Given the description of an element on the screen output the (x, y) to click on. 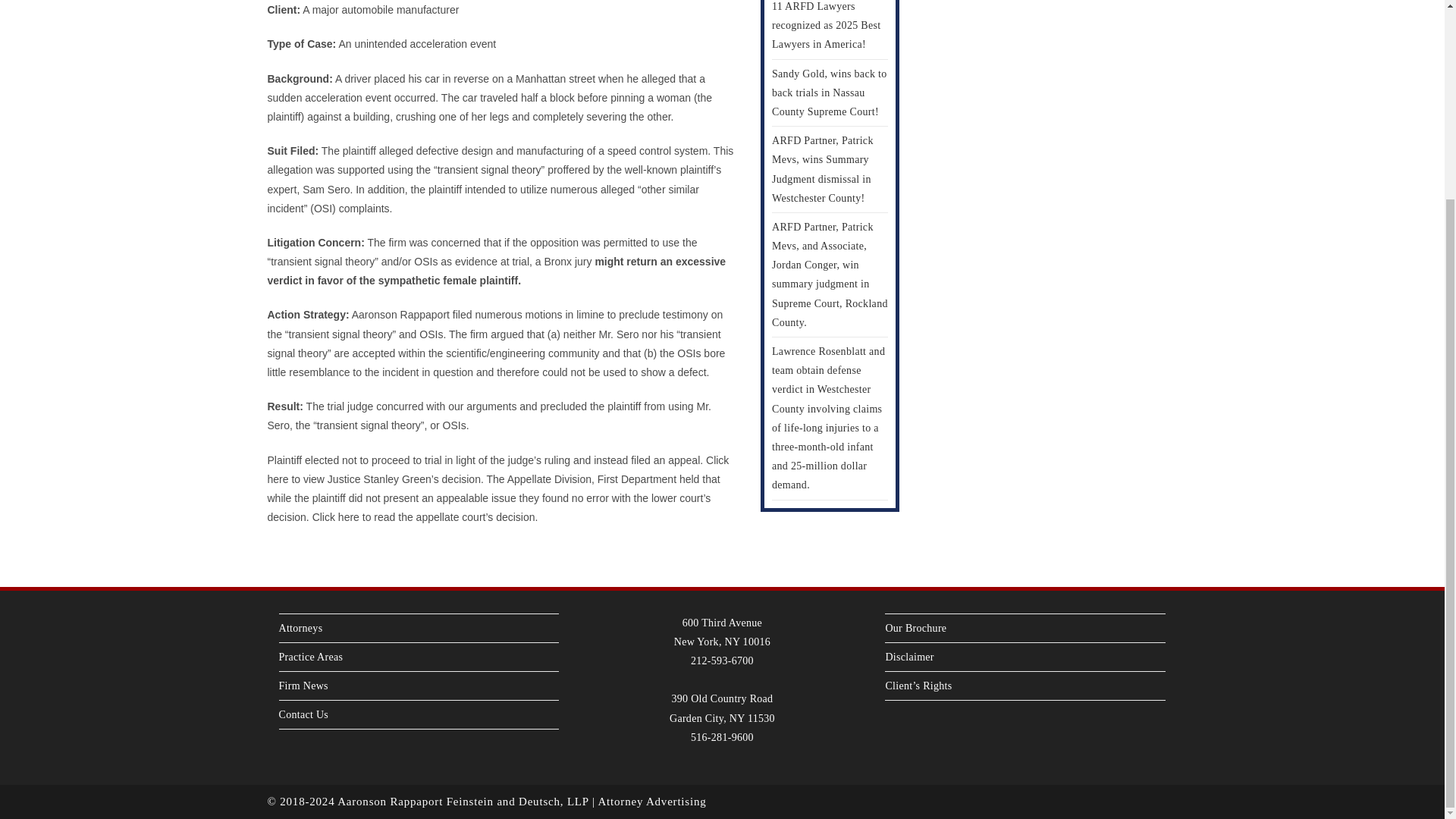
Attorneys (301, 627)
Practice Areas (311, 656)
11 ARFD Lawyers recognized as 2025 Best Lawyers in America! (825, 24)
Firm News (304, 685)
